Given the description of an element on the screen output the (x, y) to click on. 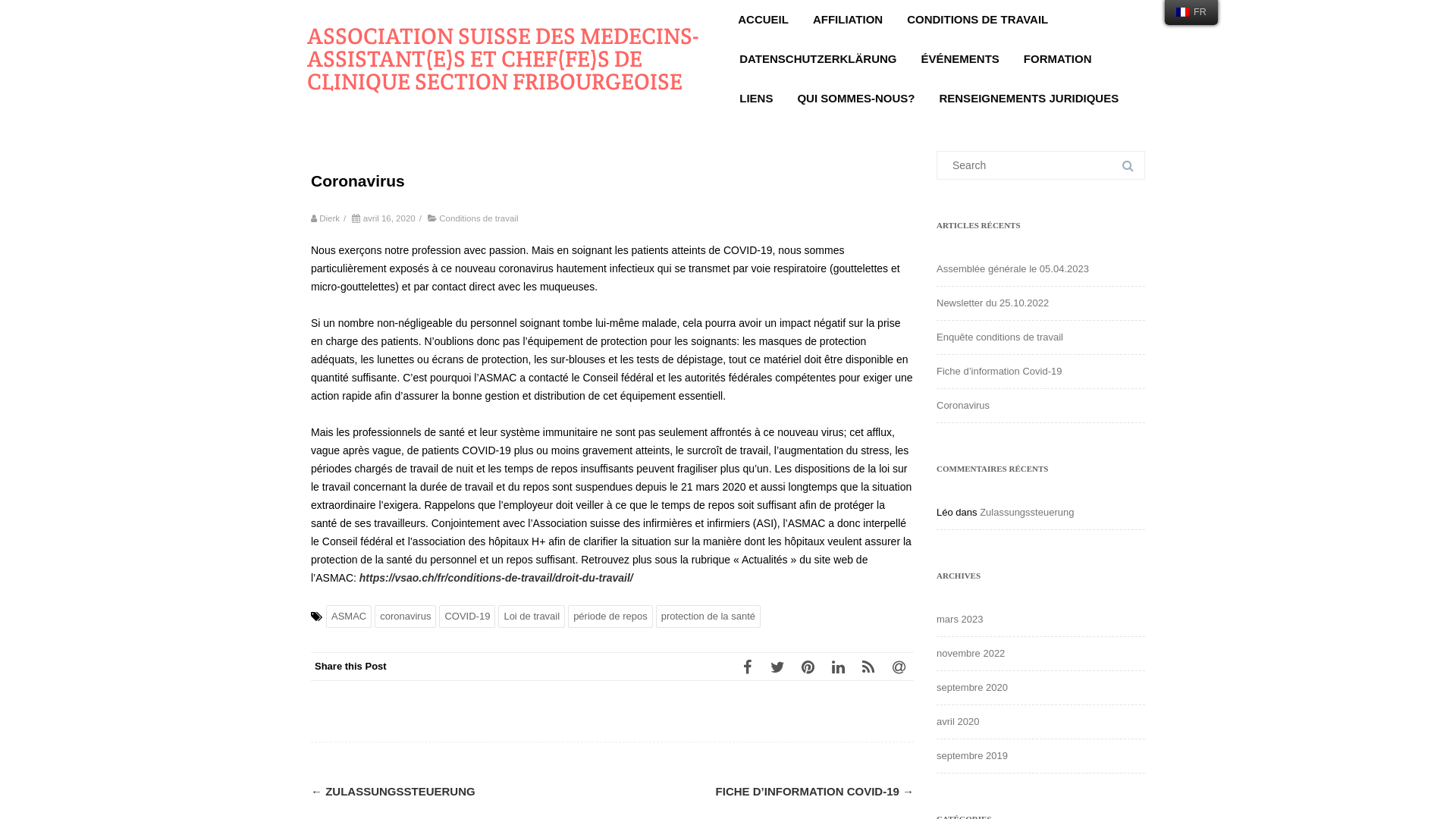
CONDITIONS DE TRAVAIL Element type: text (977, 19)
FORMATION Element type: text (1057, 58)
COVID-19 Element type: text (467, 616)
Conditions de travail Element type: text (478, 217)
RSS Element type: hover (868, 666)
LinkedIn Element type: hover (837, 666)
ASMAC Element type: text (348, 616)
Zulassungssteuerung Element type: text (1026, 511)
coronavirus Element type: text (405, 616)
Pinterest Element type: hover (807, 666)
septembre 2020 Element type: text (971, 687)
FR Element type: text (1190, 12)
https://vsao.ch/fr/conditions-de-travail/droit-du-travail/ Element type: text (496, 577)
Coronavirus Element type: text (962, 405)
Email Element type: hover (898, 666)
mars 2023 Element type: text (959, 618)
Twitter Element type: hover (777, 666)
Loi de travail Element type: text (531, 616)
ACCUEIL Element type: text (763, 19)
avril 2020 Element type: text (957, 721)
Facebook Element type: hover (746, 666)
novembre 2022 Element type: text (970, 652)
Search for: Element type: hover (1040, 164)
septembre 2019 Element type: text (971, 755)
LIENS Element type: text (756, 98)
QUI SOMMES-NOUS? Element type: text (855, 98)
RENSEIGNEMENTS JURIDIQUES Element type: text (1028, 98)
Newsletter du 25.10.2022 Element type: text (992, 302)
AFFILIATION Element type: text (847, 19)
